Given the description of an element on the screen output the (x, y) to click on. 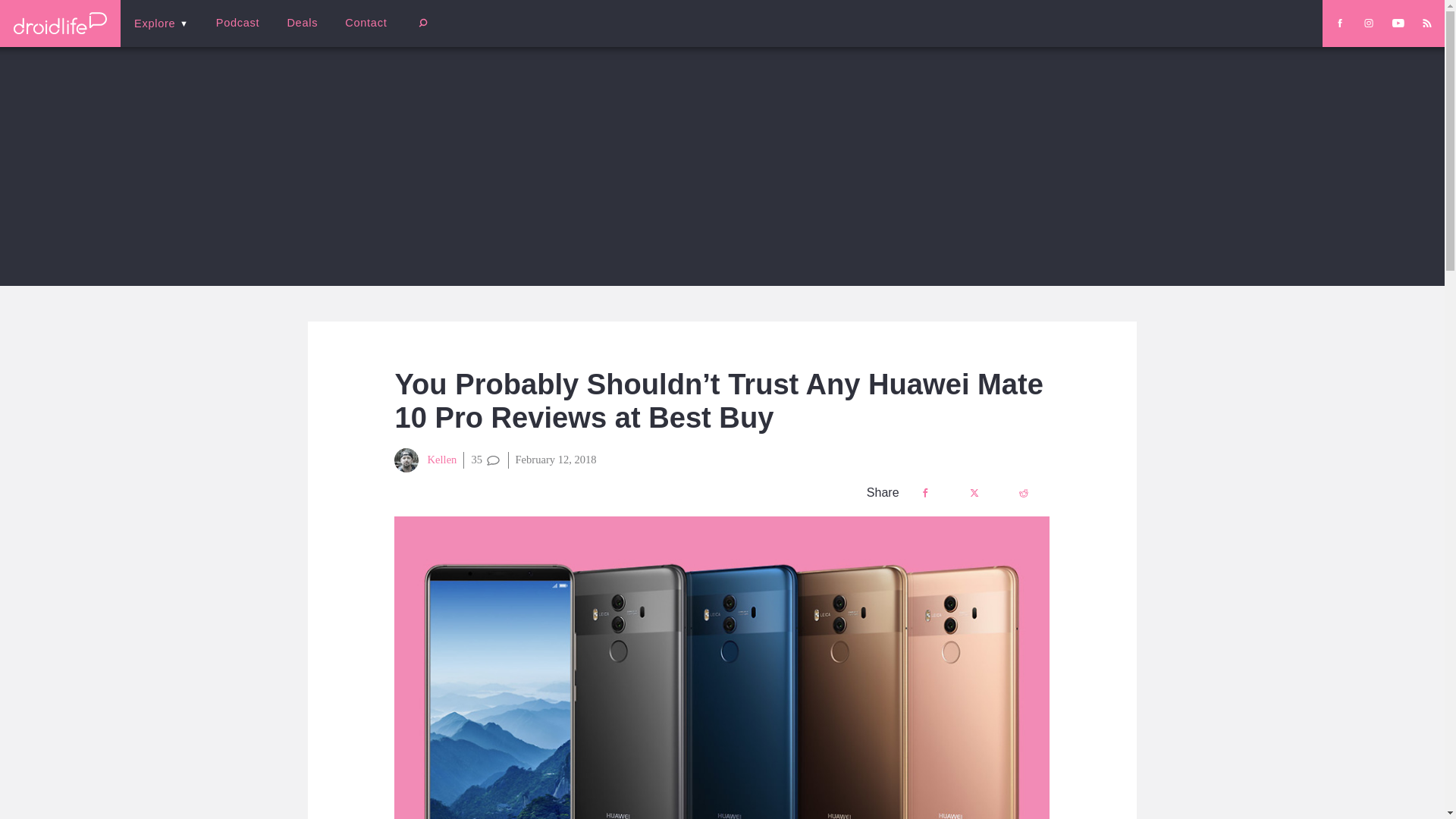
Droid Life on Facebook (1339, 23)
Explore (161, 23)
Podcast (237, 23)
Droid Life RSS (1426, 23)
Deals (302, 23)
Kellen (425, 459)
Beginners' Guide (360, 33)
Contact (365, 23)
Droid Life on YouTube (1398, 23)
Droid Life on Instagram (1368, 23)
